Given the description of an element on the screen output the (x, y) to click on. 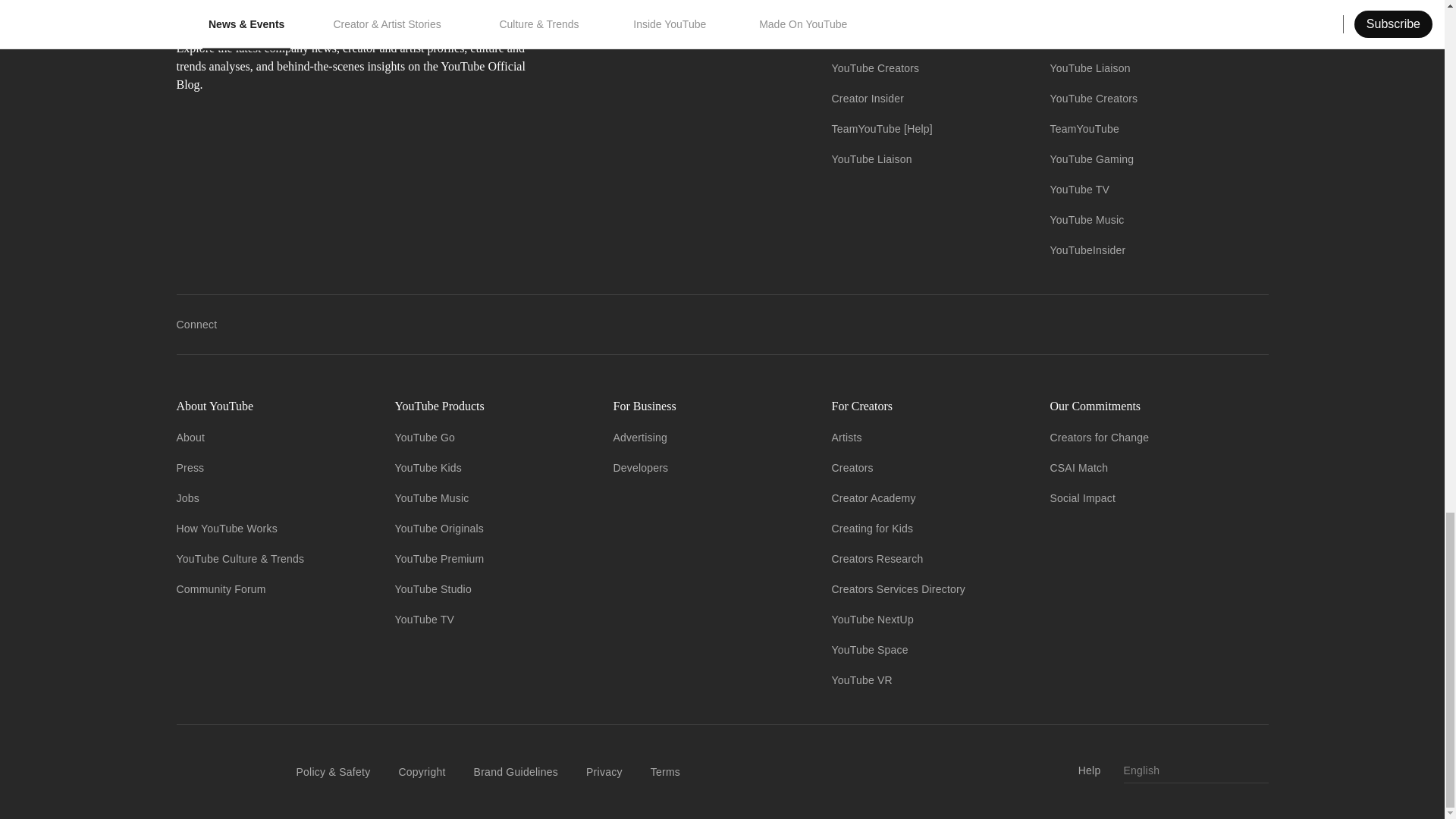
Our Channels (928, 7)
YouTube (852, 37)
YouTube Creators (874, 68)
